Given the description of an element on the screen output the (x, y) to click on. 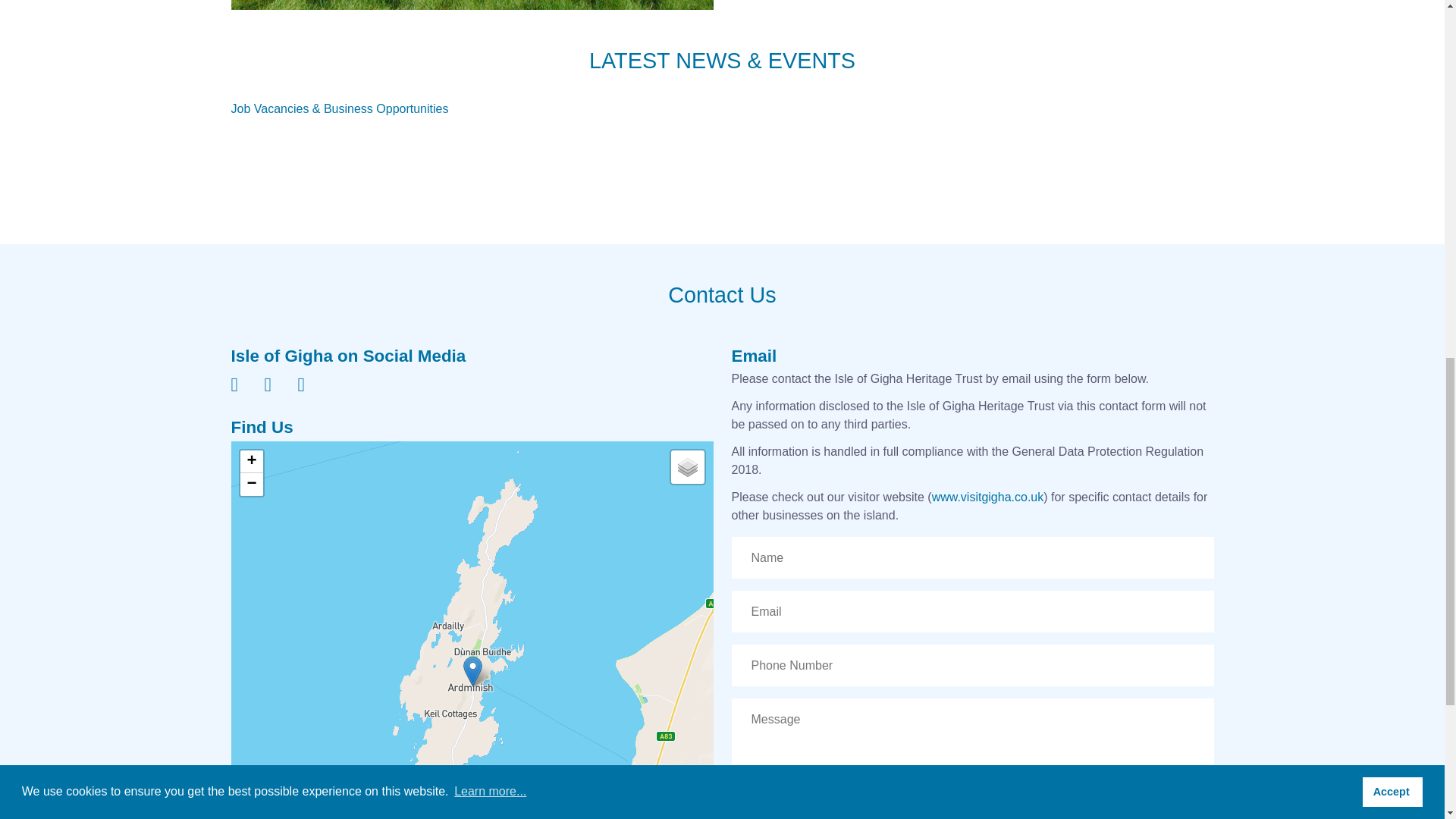
Zoom out (251, 484)
www.visitgigha.co.uk (987, 497)
Layers (686, 467)
Zoom in (251, 461)
